Given the description of an element on the screen output the (x, y) to click on. 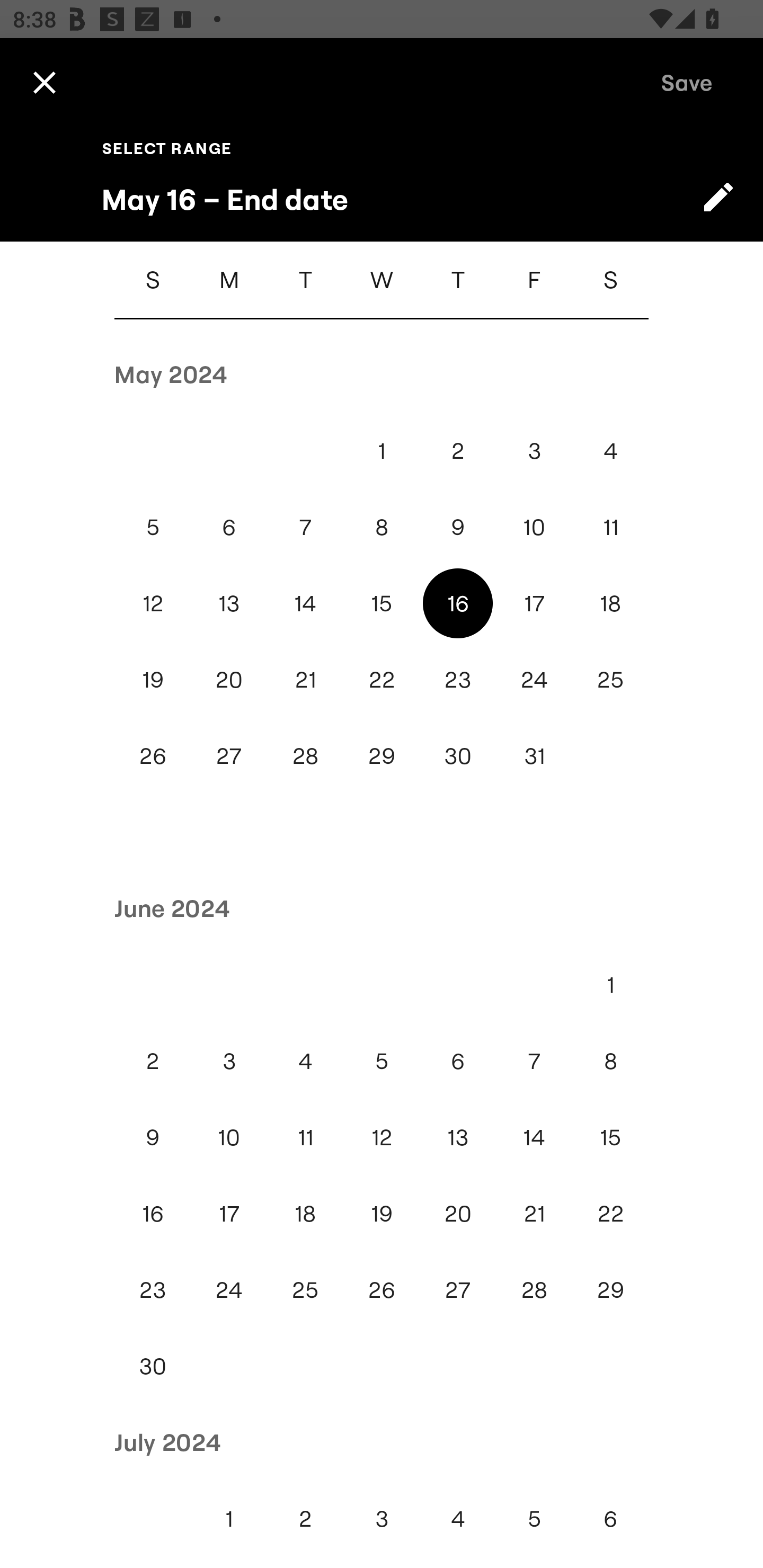
Cancel (44, 81)
Save (686, 81)
Switch to text input mode (718, 196)
1 Wed, May 1 (381, 450)
2 Thu, May 2 (457, 450)
3 Fri, May 3 (533, 450)
4 Sat, May 4 (610, 450)
5 Sun, May 5 (152, 526)
6 Mon, May 6 (228, 526)
7 Tue, May 7 (305, 526)
8 Wed, May 8 (381, 526)
9 Thu, May 9 (457, 526)
10 Fri, May 10 (533, 526)
11 Sat, May 11 (610, 526)
12 Sun, May 12 (152, 602)
13 Mon, May 13 (228, 602)
14 Tue, May 14 (305, 602)
15 Wed, May 15 (381, 602)
16 Thu, May 16 (457, 602)
17 Fri, May 17 (533, 602)
18 Sat, May 18 (610, 602)
19 Sun, May 19 (152, 679)
20 Mon, May 20 (228, 679)
21 Tue, May 21 (305, 679)
22 Wed, May 22 (381, 679)
23 Thu, May 23 (457, 679)
24 Fri, May 24 (533, 679)
25 Sat, May 25 (610, 679)
26 Sun, May 26 (152, 755)
27 Mon, May 27 (228, 755)
28 Tue, May 28 (305, 755)
29 Wed, May 29 (381, 755)
30 Thu, May 30 (457, 755)
31 Fri, May 31 (533, 755)
1 Sat, Jun 1 (610, 984)
2 Sun, Jun 2 (152, 1060)
3 Mon, Jun 3 (228, 1060)
4 Tue, Jun 4 (305, 1060)
5 Wed, Jun 5 (381, 1060)
6 Thu, Jun 6 (457, 1060)
7 Fri, Jun 7 (533, 1060)
8 Sat, Jun 8 (610, 1060)
9 Sun, Jun 9 (152, 1137)
10 Mon, Jun 10 (228, 1137)
11 Tue, Jun 11 (305, 1137)
12 Wed, Jun 12 (381, 1137)
13 Thu, Jun 13 (457, 1137)
14 Fri, Jun 14 (533, 1137)
15 Sat, Jun 15 (610, 1137)
16 Sun, Jun 16 (152, 1213)
17 Mon, Jun 17 (228, 1213)
18 Tue, Jun 18 (305, 1213)
19 Wed, Jun 19 (381, 1213)
20 Thu, Jun 20 (457, 1213)
21 Fri, Jun 21 (533, 1213)
22 Sat, Jun 22 (610, 1213)
23 Sun, Jun 23 (152, 1289)
24 Mon, Jun 24 (228, 1289)
25 Tue, Jun 25 (305, 1289)
26 Wed, Jun 26 (381, 1289)
27 Thu, Jun 27 (457, 1289)
28 Fri, Jun 28 (533, 1289)
29 Sat, Jun 29 (610, 1289)
30 Sun, Jun 30 (152, 1366)
1 Mon, Jul 1 (228, 1518)
2 Tue, Jul 2 (305, 1518)
3 Wed, Jul 3 (381, 1518)
4 Thu, Jul 4 (457, 1518)
5 Fri, Jul 5 (533, 1518)
6 Sat, Jul 6 (610, 1518)
